Given the description of an element on the screen output the (x, y) to click on. 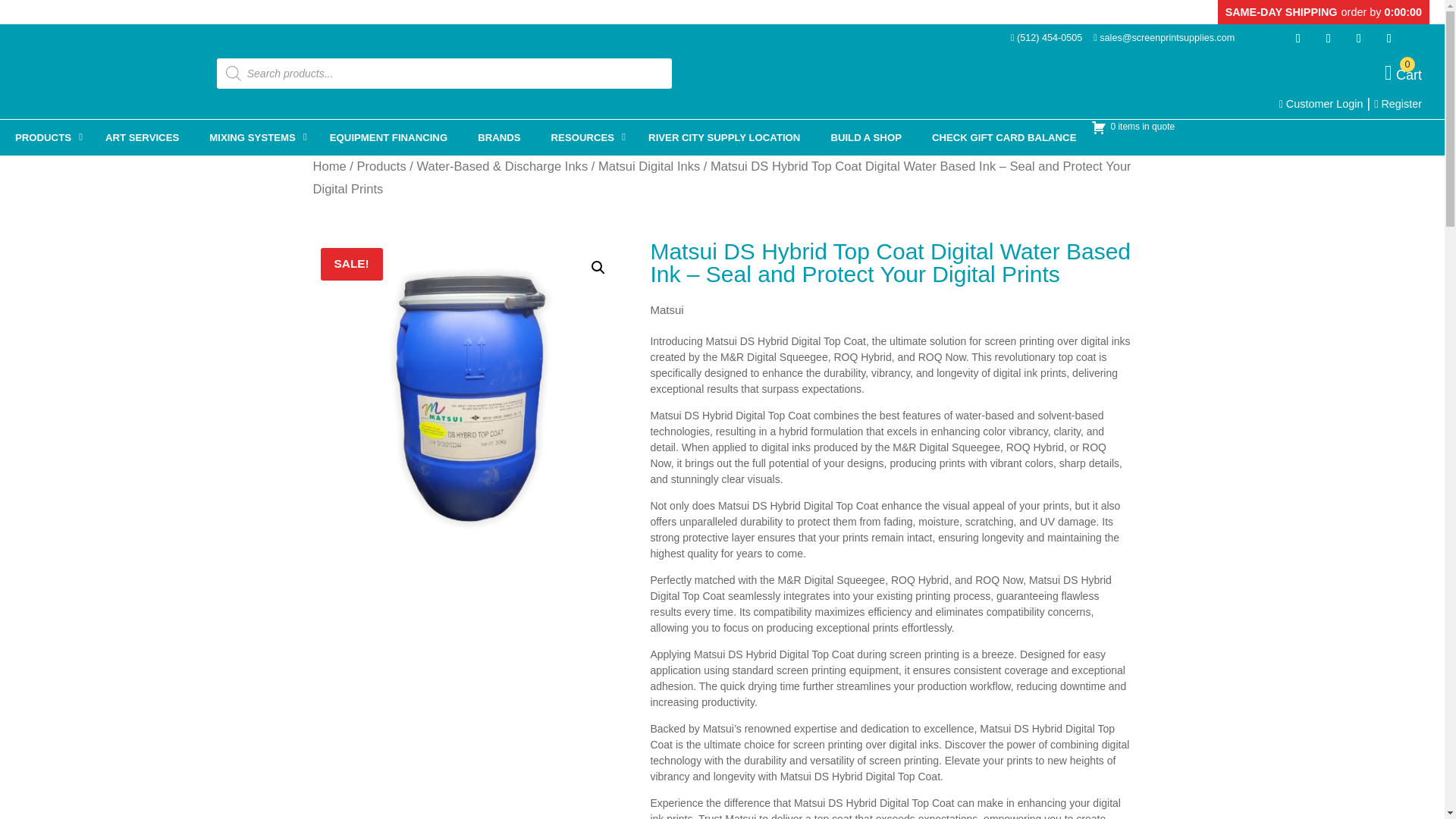
Customer Login (1320, 103)
Follow on X (1358, 38)
Follow on Facebook (1297, 38)
Register (1398, 103)
Follow on Instagram (1328, 38)
DS Hybrid Top Coat (1403, 74)
View Quote (469, 396)
Follow on Youtube (1132, 127)
